Given the description of an element on the screen output the (x, y) to click on. 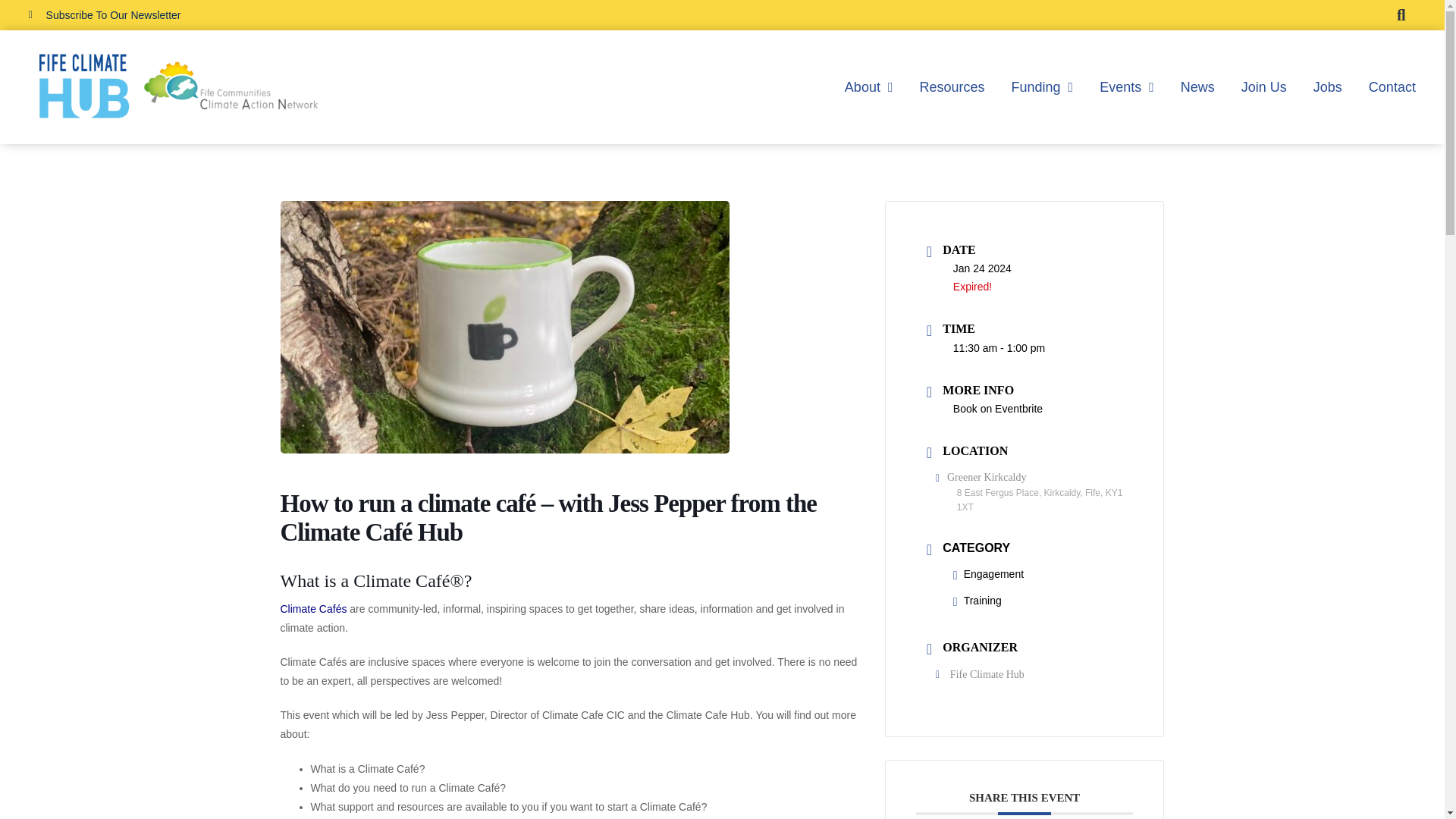
Funding (1042, 86)
Resources (951, 86)
News (1197, 86)
Subscribe To Our Newsletter (104, 14)
About (868, 86)
Events (1126, 86)
Join Us (1264, 86)
Contact (1391, 86)
